Given the description of an element on the screen output the (x, y) to click on. 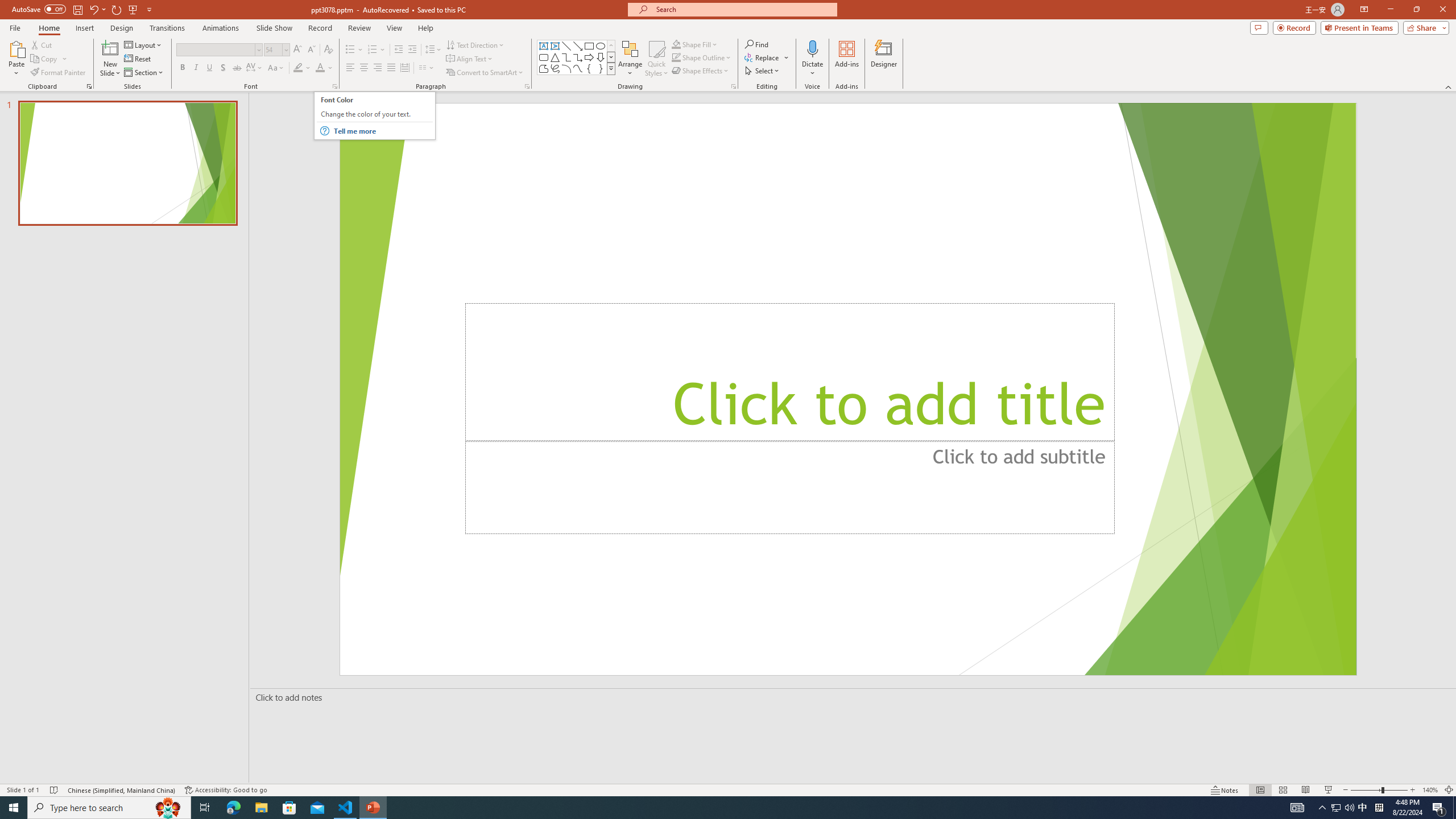
Collapse the Ribbon (1448, 86)
Design (122, 28)
Left Brace (589, 68)
